Given the description of an element on the screen output the (x, y) to click on. 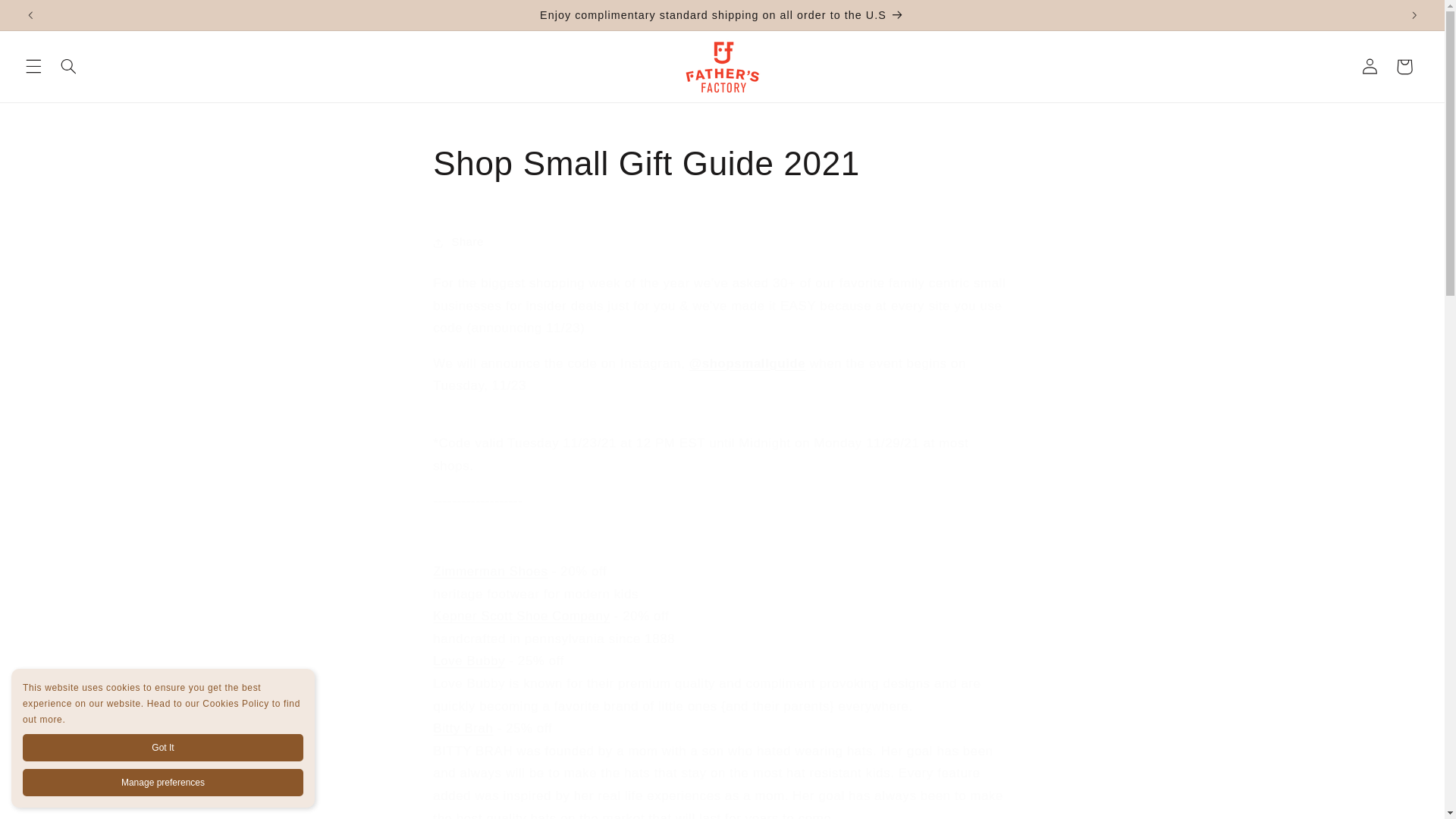
Shop Small Gift Guide 2021 (721, 163)
Accedi (1369, 66)
Zimmerman Shoes (489, 571)
Got It (162, 747)
Bitty Brah (462, 728)
Vai direttamente ai contenuti (48, 18)
Kepner Scott Shoe Company (521, 616)
Carrello (1404, 66)
Love Bubby (468, 660)
Zimmerman Shoes (489, 571)
